Given the description of an element on the screen output the (x, y) to click on. 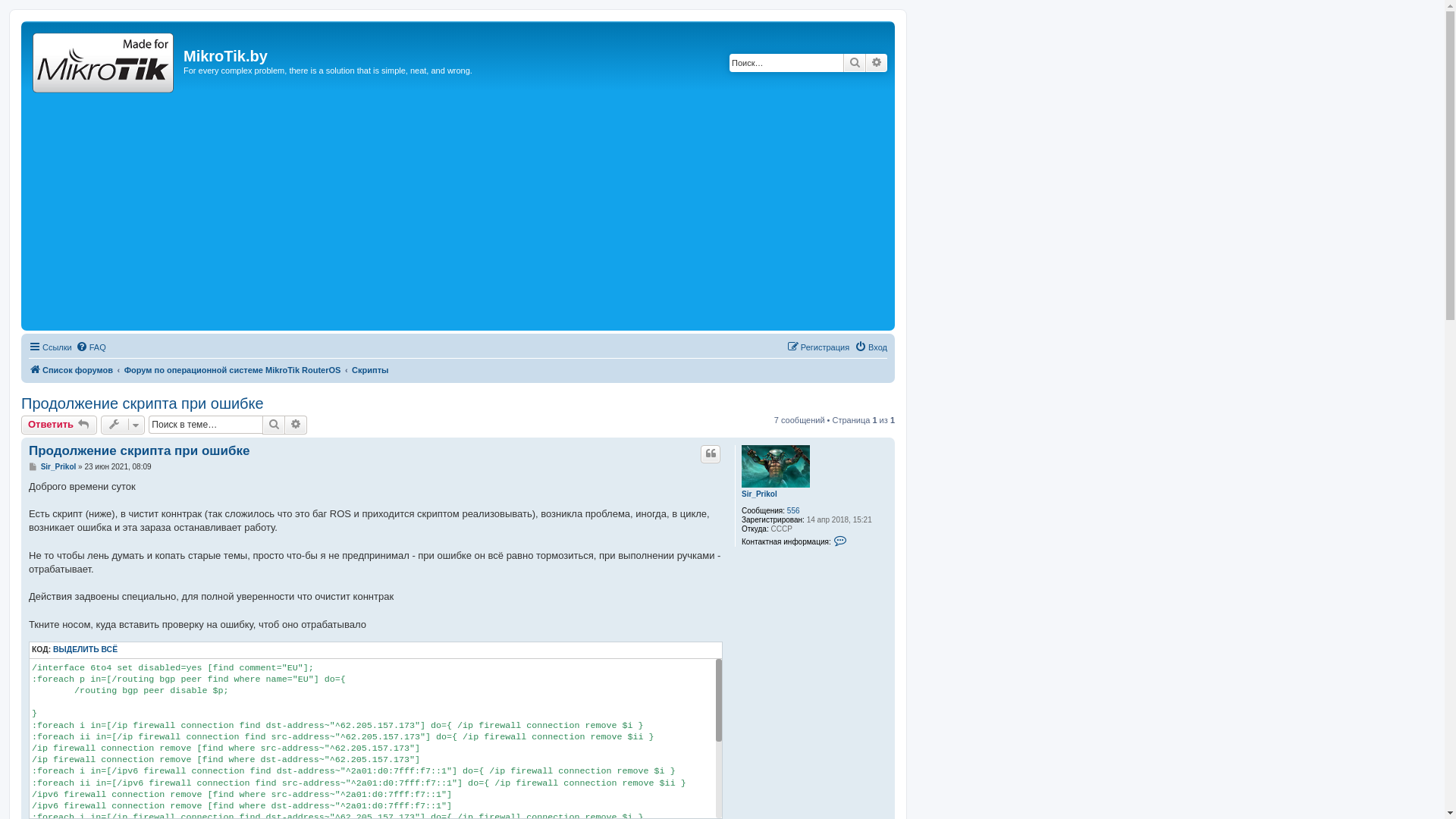
FAQ Element type: text (90, 347)
Sir_Prikol Element type: text (759, 493)
Sir_Prikol Element type: text (58, 466)
556 Element type: text (793, 510)
